Given the description of an element on the screen output the (x, y) to click on. 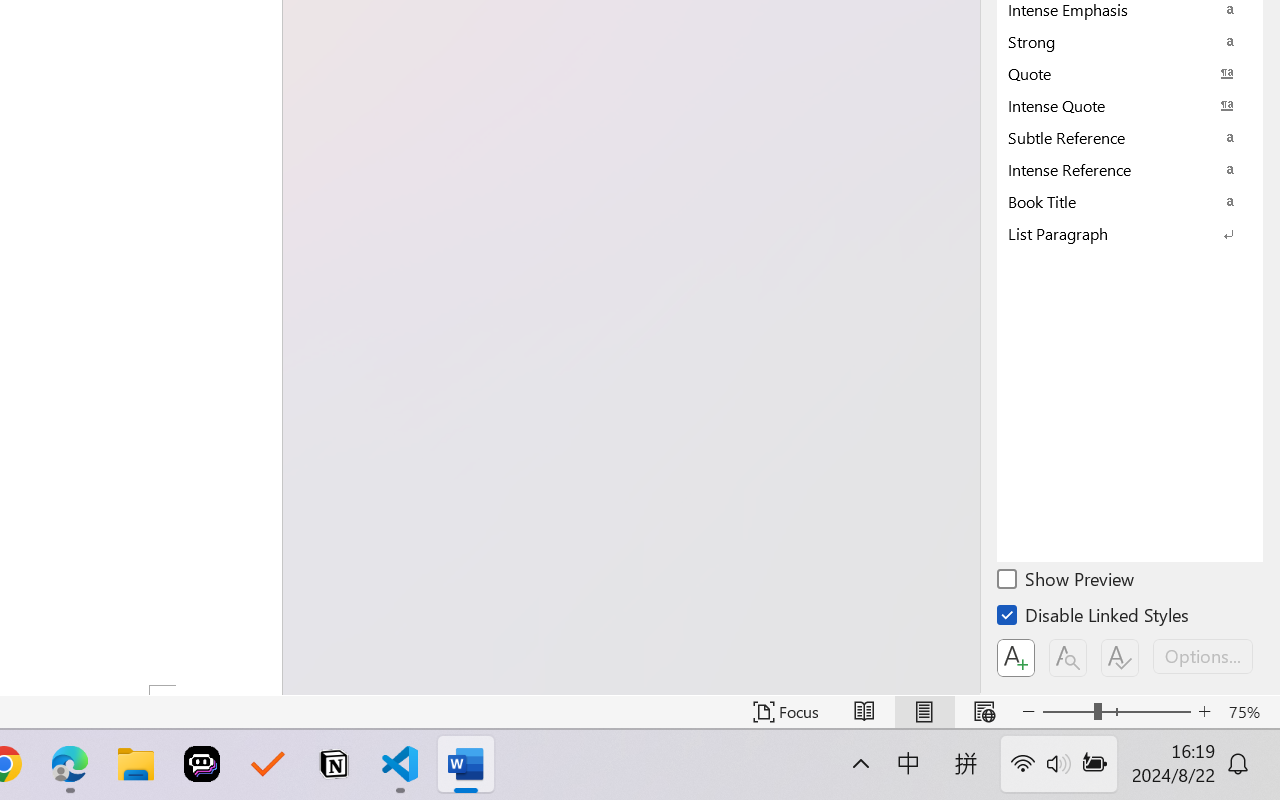
Quote (1130, 73)
Options... (1203, 656)
Zoom 75% (1249, 712)
List Paragraph (1130, 233)
Subtle Reference (1130, 137)
Show Preview (1067, 582)
Intense Reference (1130, 169)
Class: NetUIButton (1119, 657)
Book Title (1130, 201)
